Given the description of an element on the screen output the (x, y) to click on. 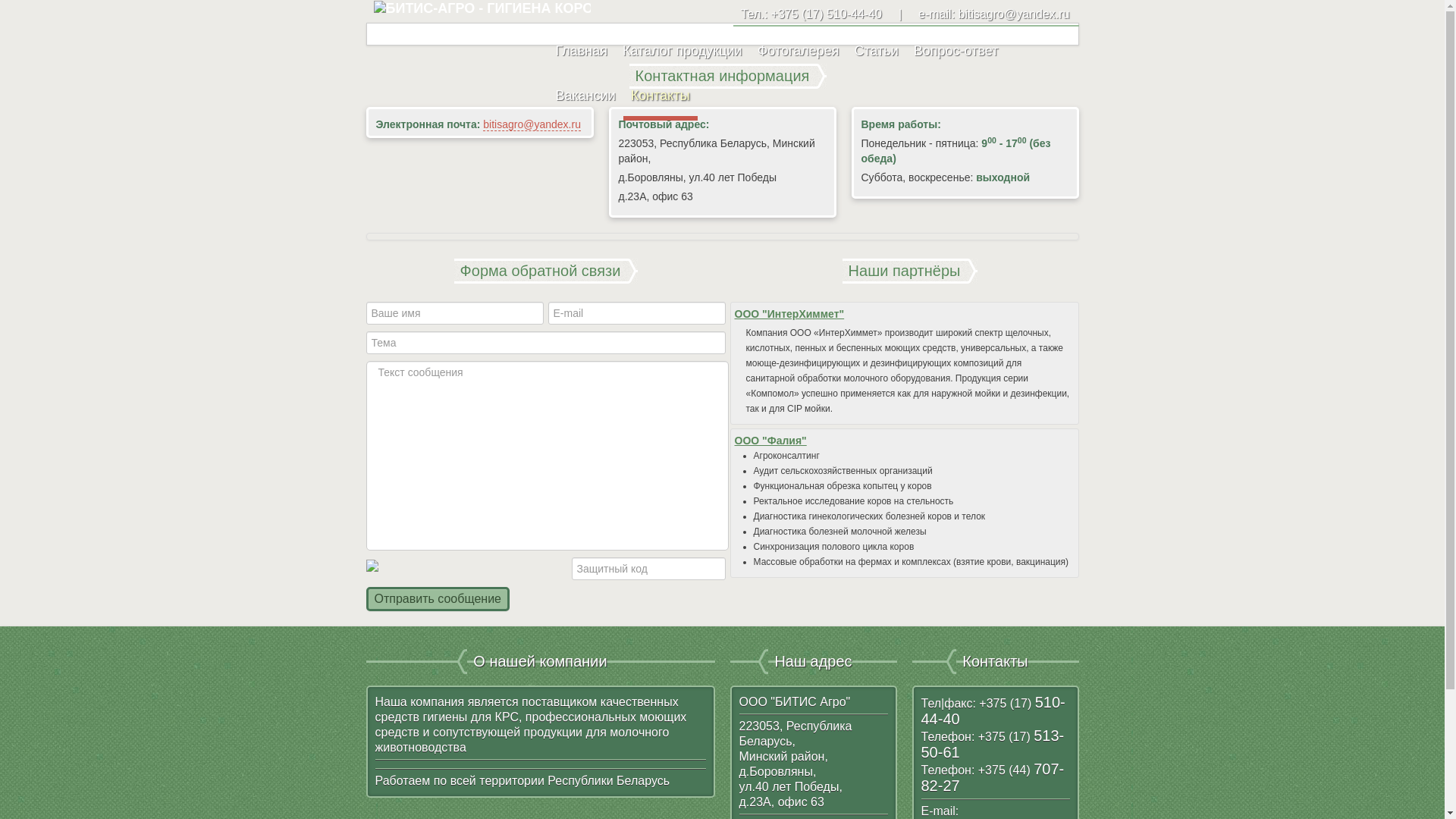
bitisagro@yandex.ru Element type: text (531, 124)
| Element type: text (900, 12)
e-mail: bitisagro@yandex.ru Element type: text (993, 12)
